Given the description of an element on the screen output the (x, y) to click on. 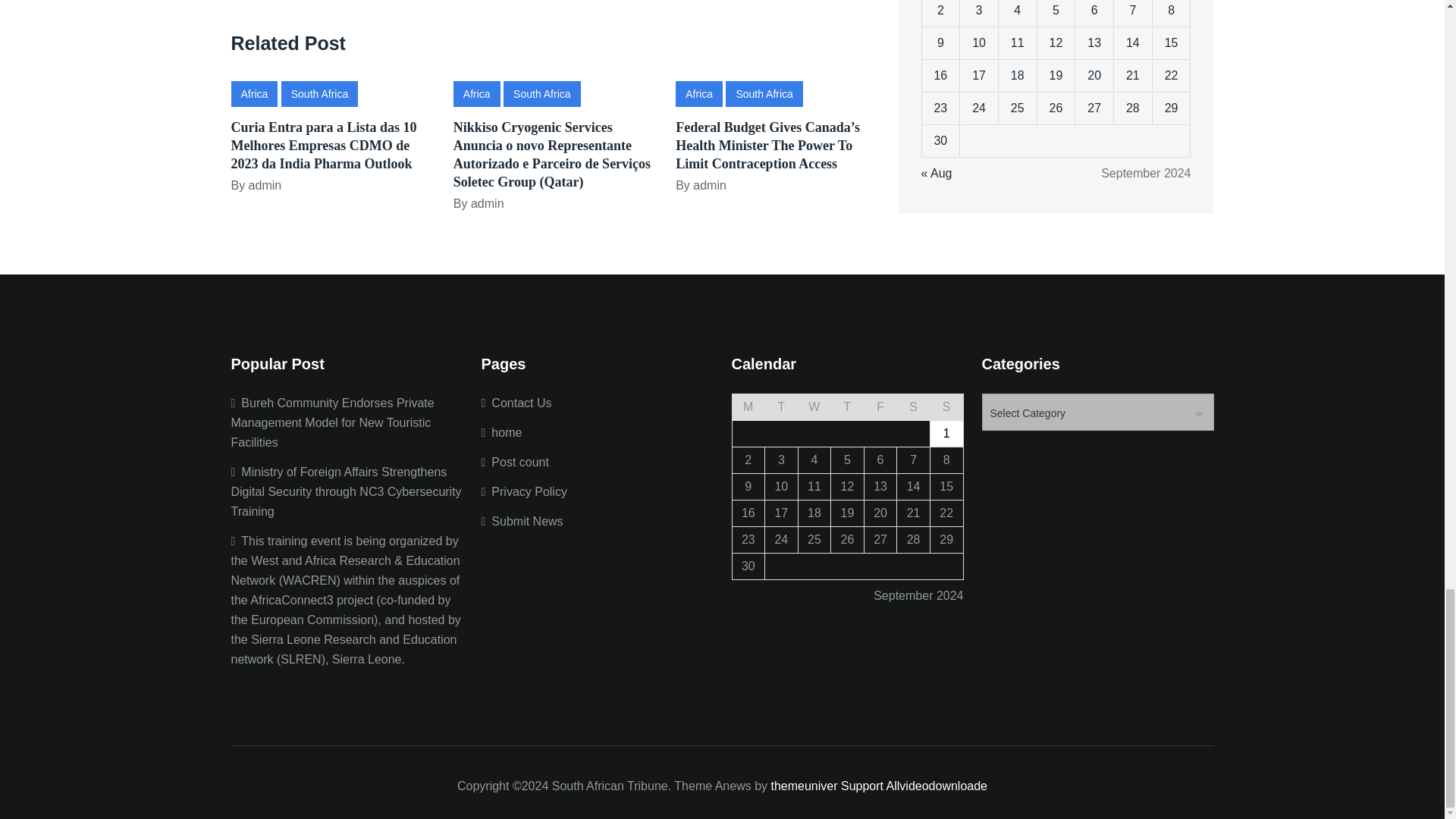
Thursday (847, 406)
Tuesday (781, 406)
Africa (476, 93)
Monday (748, 406)
South Africa (319, 93)
Friday (879, 406)
Wednesday (814, 406)
Saturday (913, 406)
South Africa (541, 93)
